Given the description of an element on the screen output the (x, y) to click on. 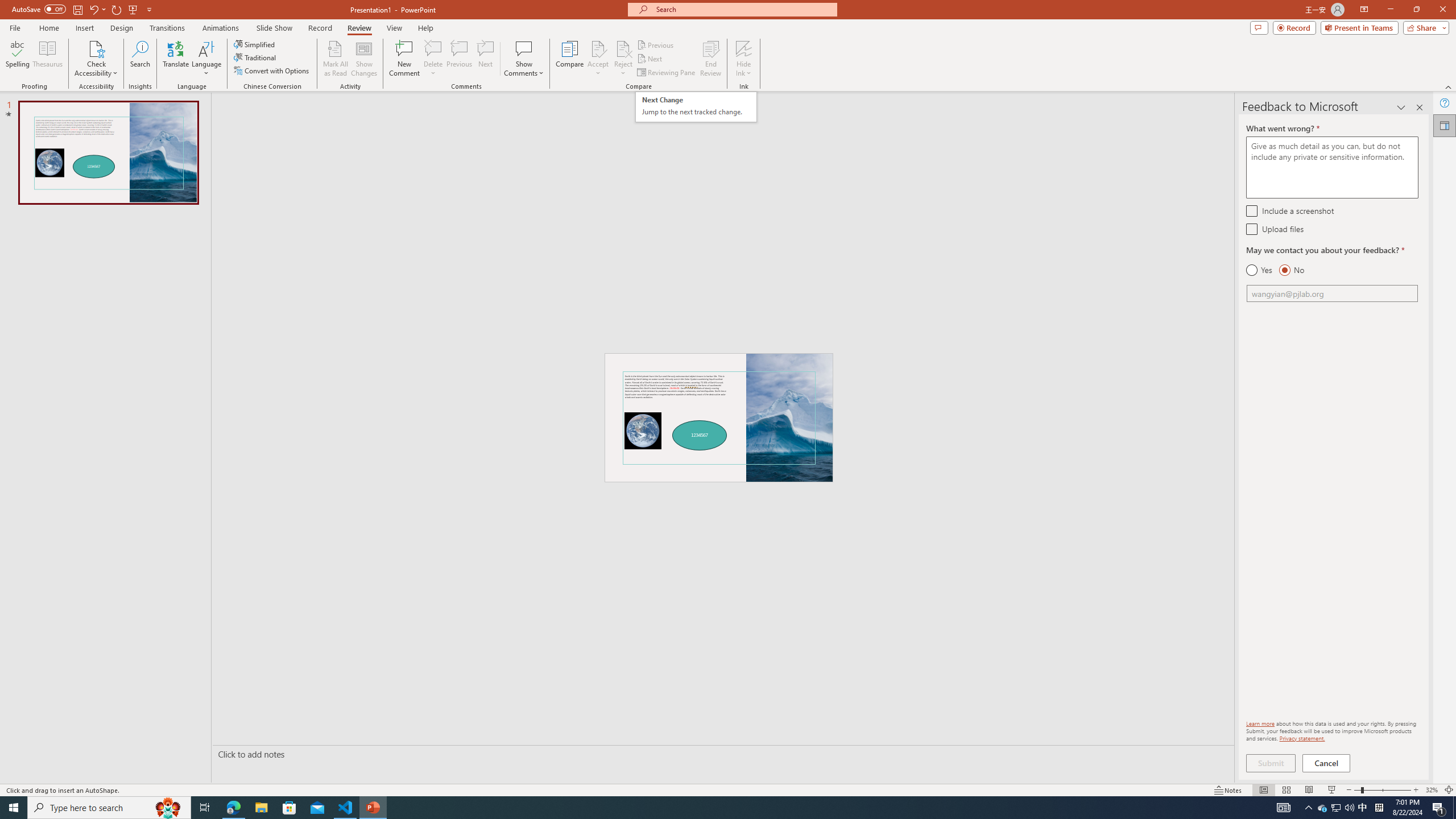
Translate (175, 58)
Privacy statement. (695, 106)
Feedback to Microsoft (1301, 738)
End Review (1444, 125)
Check Accessibility (710, 58)
Next (95, 58)
Hide Ink (649, 58)
Show Changes (743, 58)
Reject Change (363, 58)
Mark All as Read (622, 48)
